Given the description of an element on the screen output the (x, y) to click on. 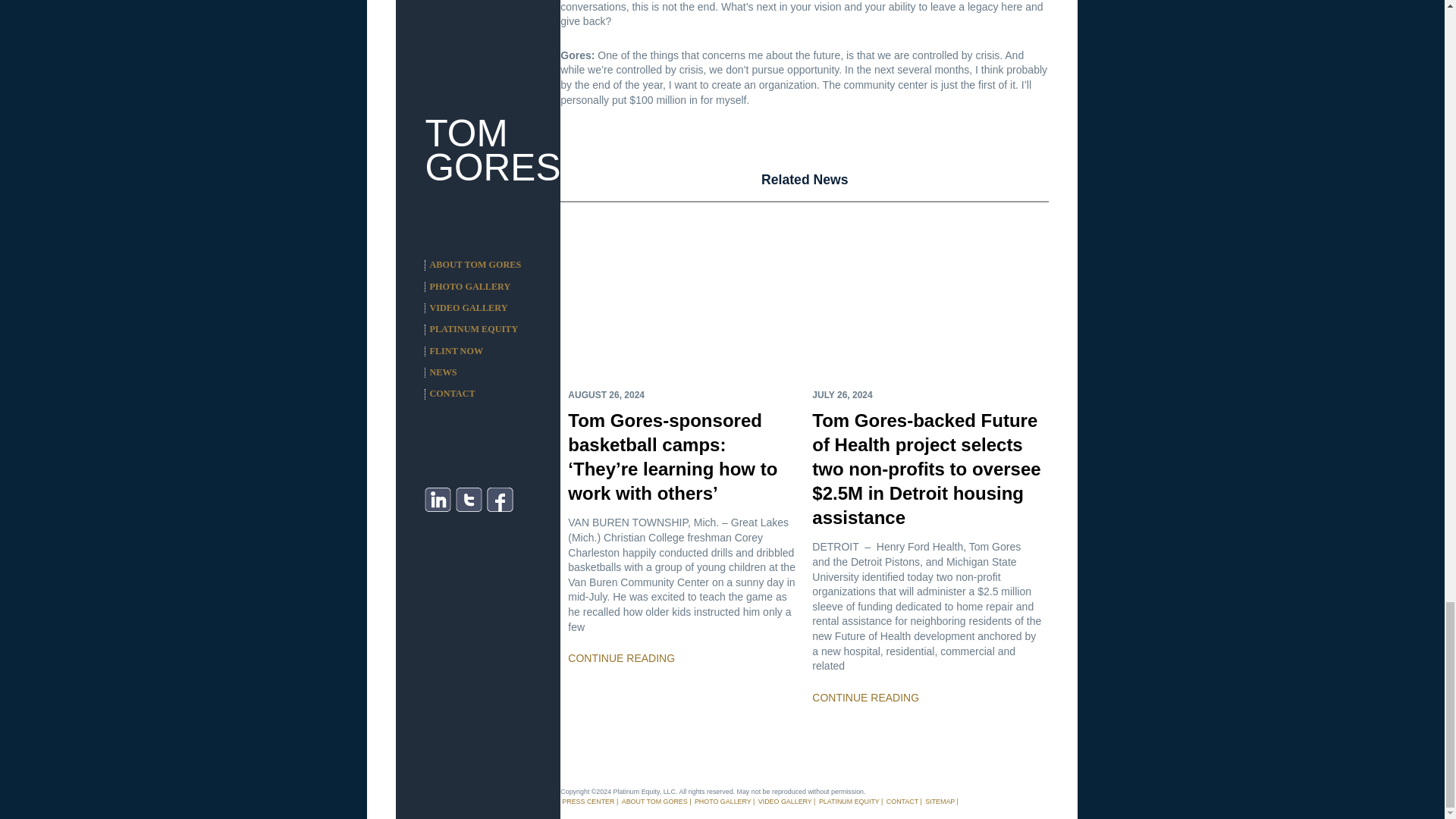
PLATINUM EQUITY (848, 801)
VIDEO GALLERY (785, 801)
PHOTO GALLERY (722, 801)
CONTINUE READING (865, 697)
CONTINUE READING (621, 657)
ABOUT TOM GORES (654, 801)
SITEMAP (939, 801)
CONTACT (902, 801)
PRESS CENTER (588, 801)
